Given the description of an element on the screen output the (x, y) to click on. 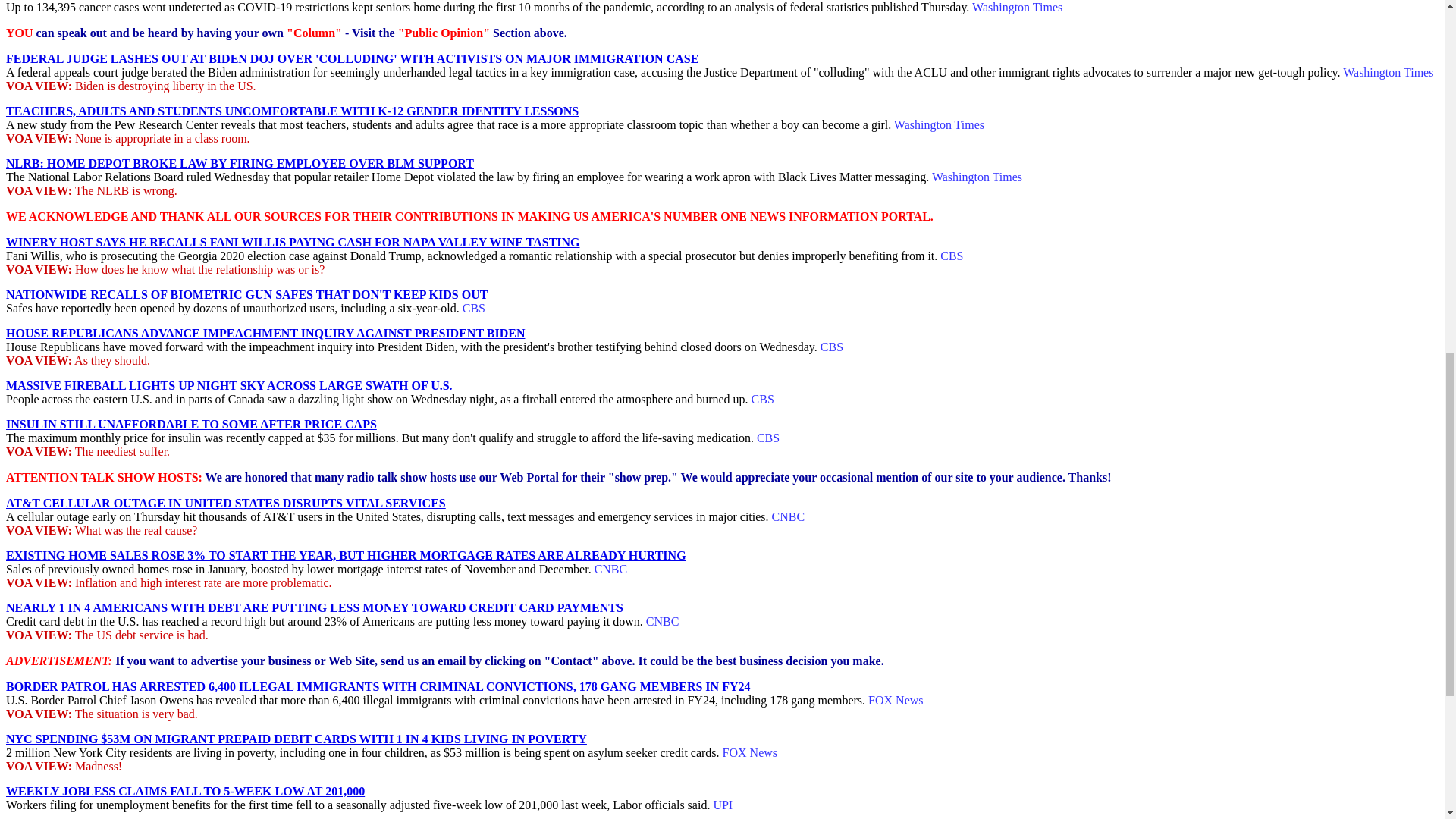
INSULIN STILL UNAFFORDABLE TO SOME AFTER PRICE CAPS (191, 423)
WEEKLY JOBLESS CLAIMS FALL TO 5-WEEK LOW AT 201,000 (185, 790)
